Given the description of an element on the screen output the (x, y) to click on. 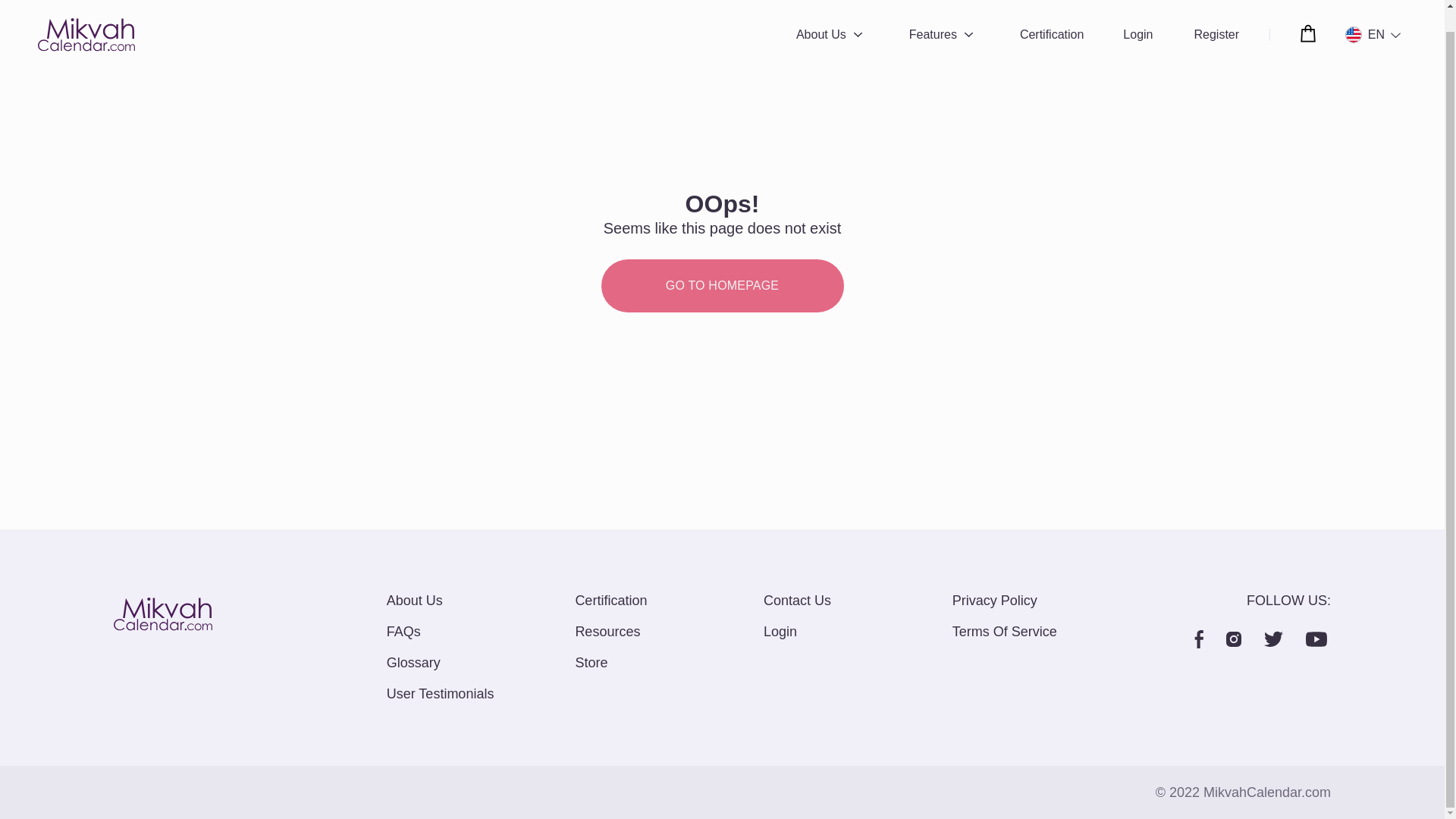
About Us (820, 13)
Mikvah calendar (86, 15)
Register (1216, 13)
EN (1368, 18)
Login (1137, 13)
Certification (1051, 13)
Features (932, 13)
Mikvah calendar (162, 616)
